Given the description of an element on the screen output the (x, y) to click on. 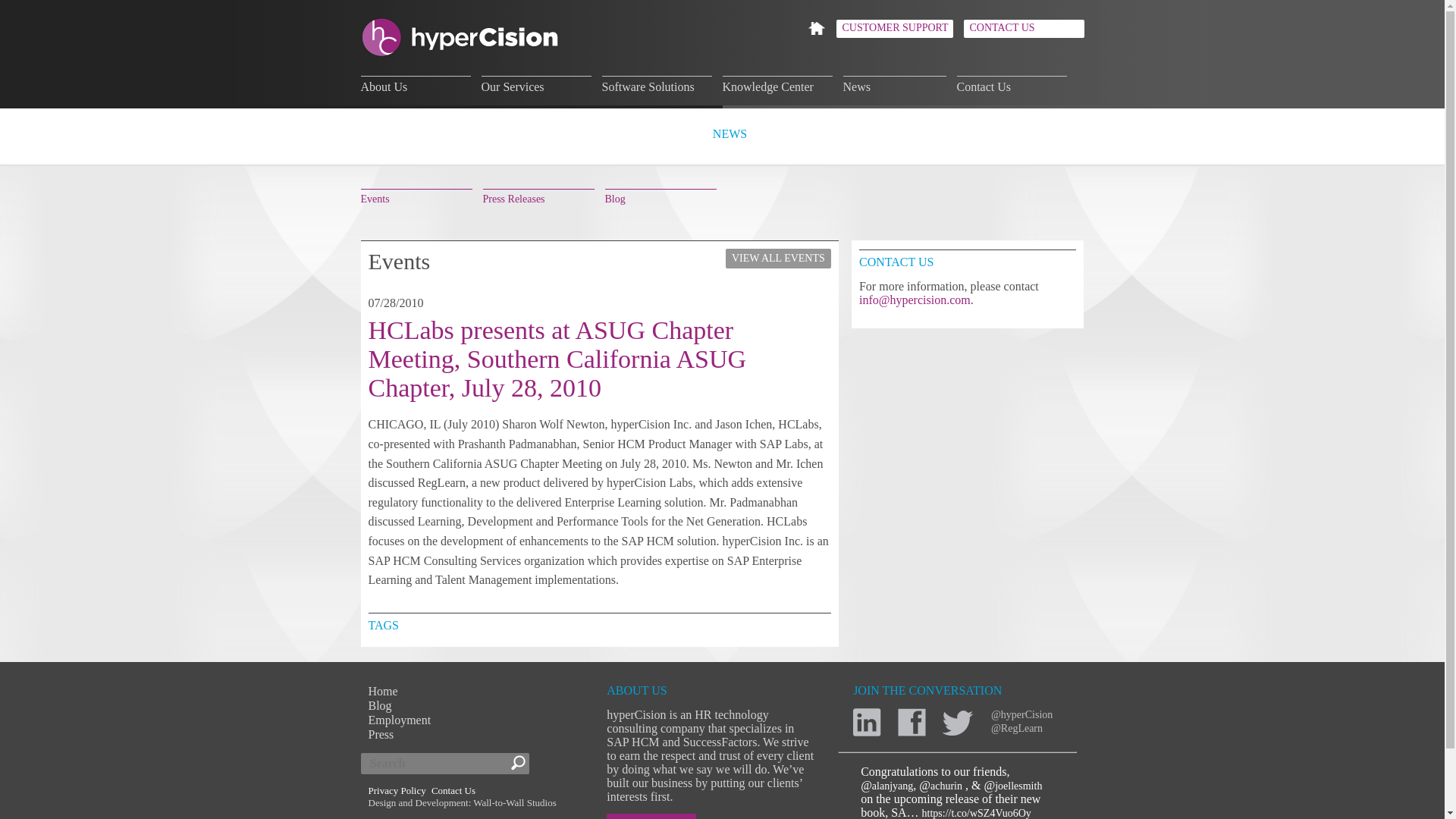
News (894, 85)
About Us (415, 85)
Press Releases (537, 197)
VIEW ALL EVENTS (778, 258)
Blog (660, 197)
Events (416, 197)
CUSTOMER SUPPORT (893, 28)
Software Solutions (656, 85)
Knowledge Center (776, 85)
Home (382, 690)
